Given the description of an element on the screen output the (x, y) to click on. 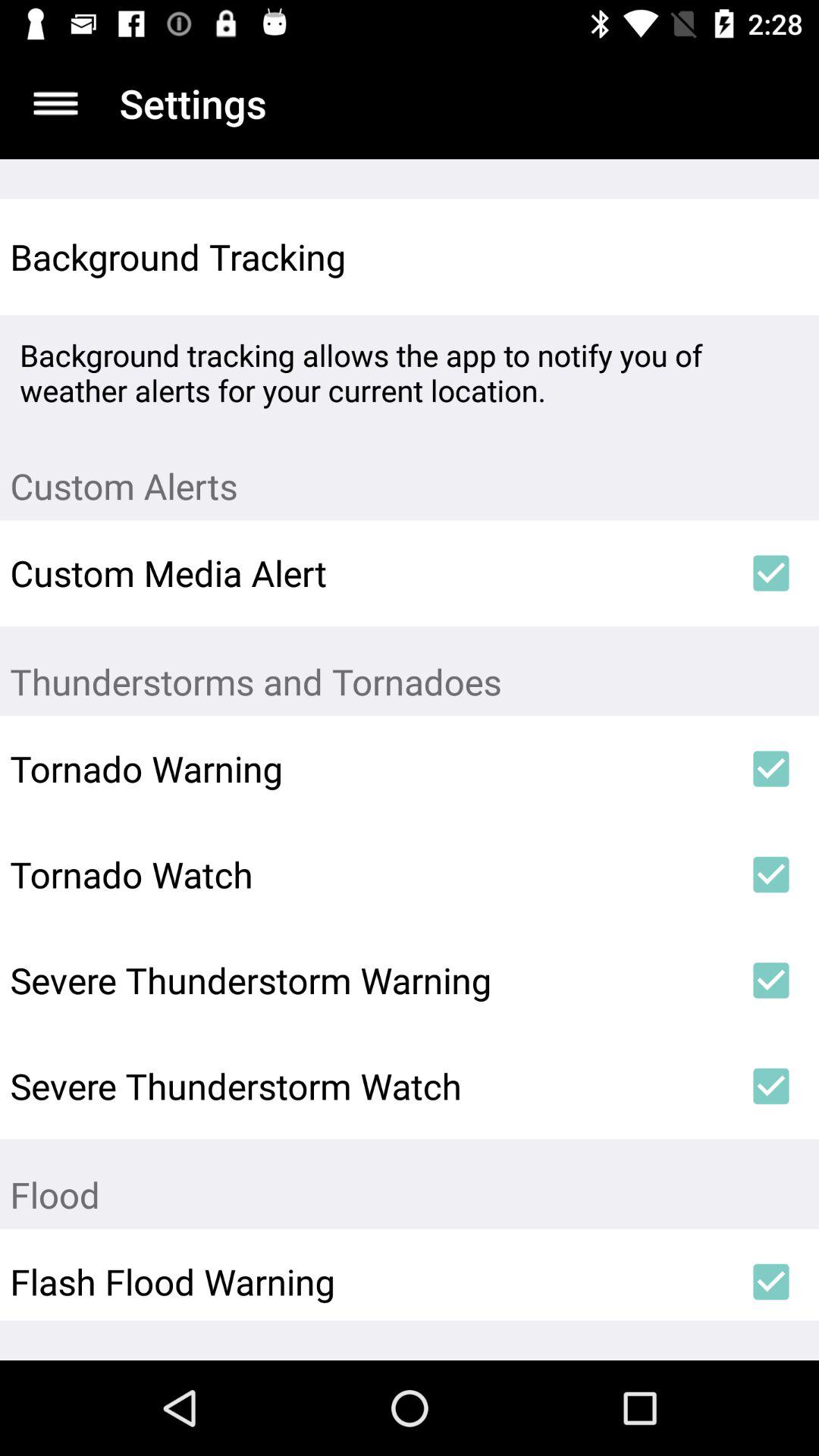
press the item next to the background tracking item (771, 256)
